Given the description of an element on the screen output the (x, y) to click on. 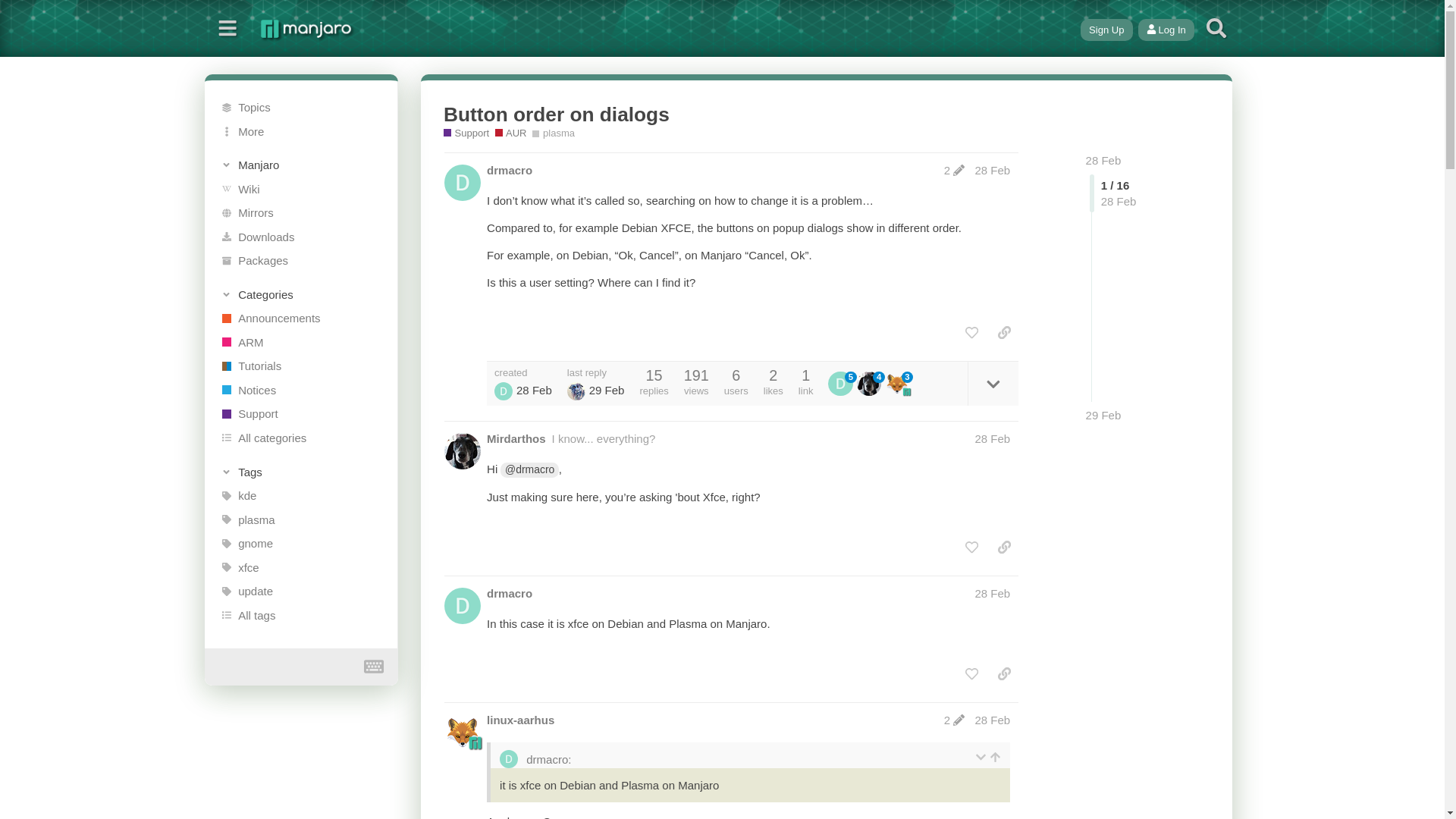
Support (466, 133)
All tags (301, 614)
Notices (301, 390)
Button order on dialogs (556, 114)
gnome (301, 543)
Log In (1165, 29)
kde (301, 495)
Sidebar (227, 28)
Sign Up (1106, 29)
28 Feb (1103, 160)
